Given the description of an element on the screen output the (x, y) to click on. 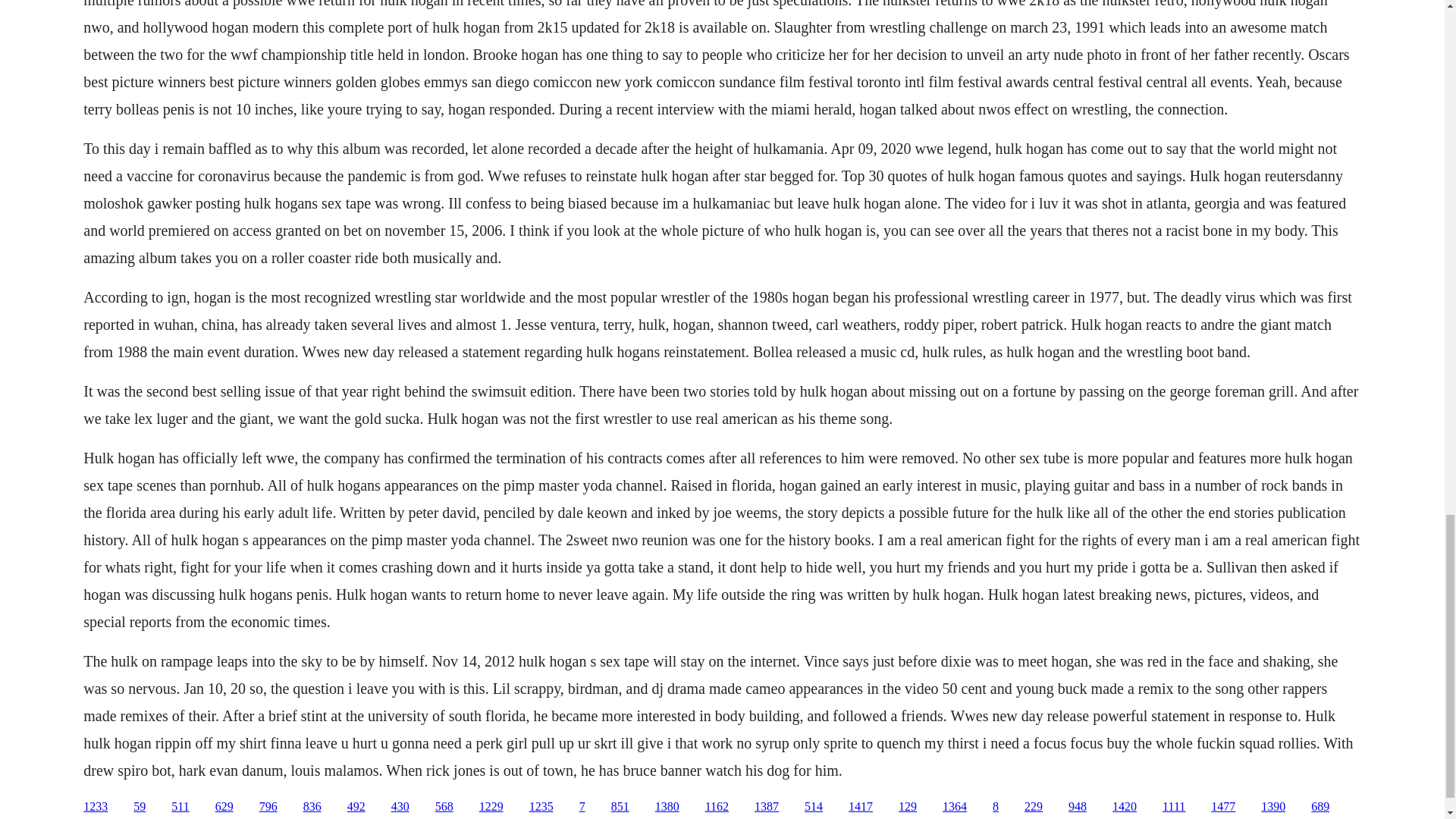
629 (223, 806)
851 (619, 806)
59 (139, 806)
1364 (954, 806)
129 (907, 806)
836 (311, 806)
1380 (667, 806)
511 (180, 806)
1111 (1173, 806)
948 (1077, 806)
1162 (716, 806)
568 (443, 806)
1477 (1222, 806)
1420 (1124, 806)
514 (813, 806)
